Given the description of an element on the screen output the (x, y) to click on. 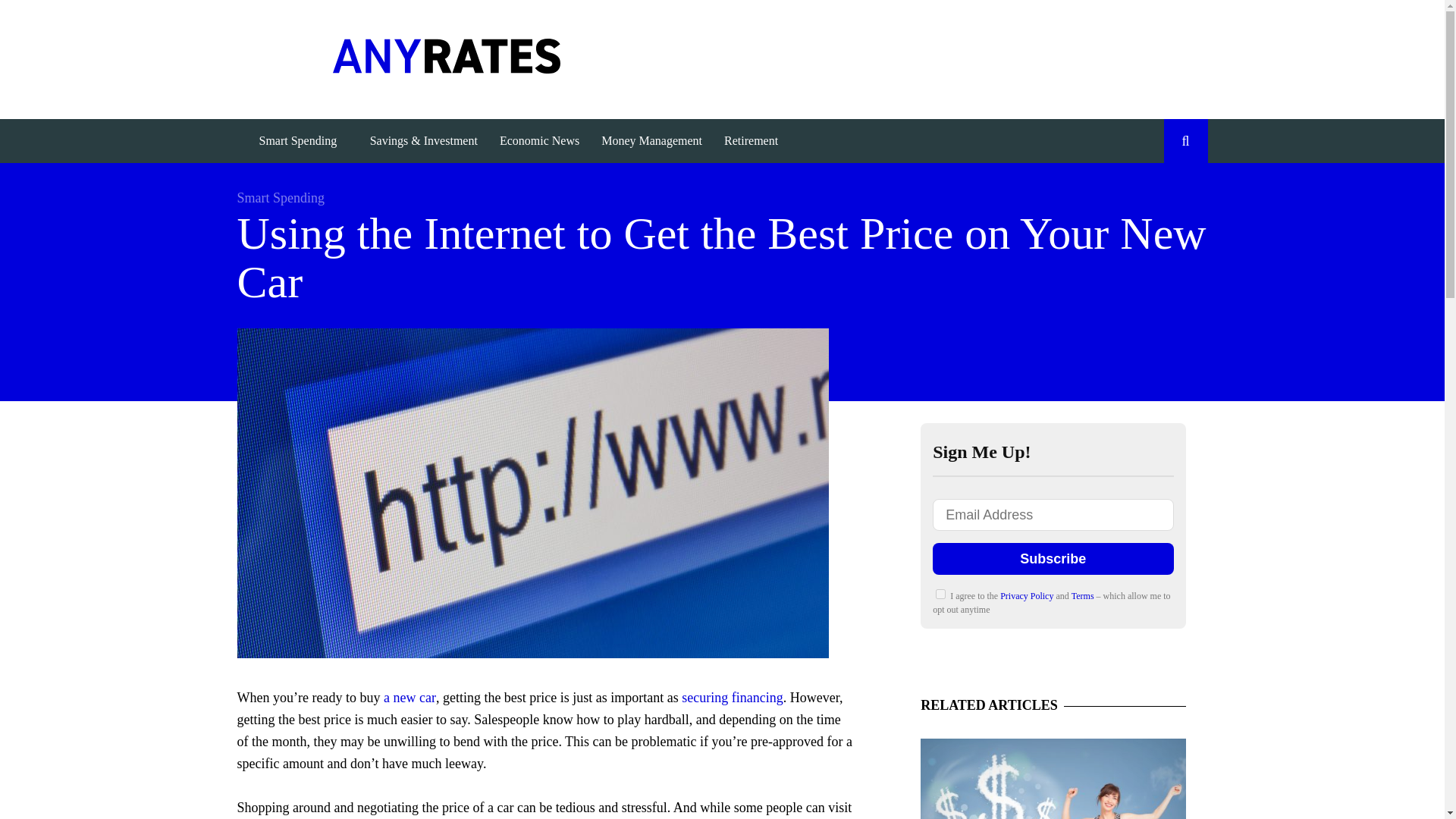
Advertisement (931, 56)
securing financing (732, 697)
1 (940, 593)
Money Management (652, 140)
Economic News (538, 140)
Retirement (751, 140)
Privacy Policy (1027, 595)
a new car (409, 697)
Smart Spending (279, 197)
Smart Spending (296, 140)
Subscribe (1053, 558)
Terms (1083, 595)
